Given the description of an element on the screen output the (x, y) to click on. 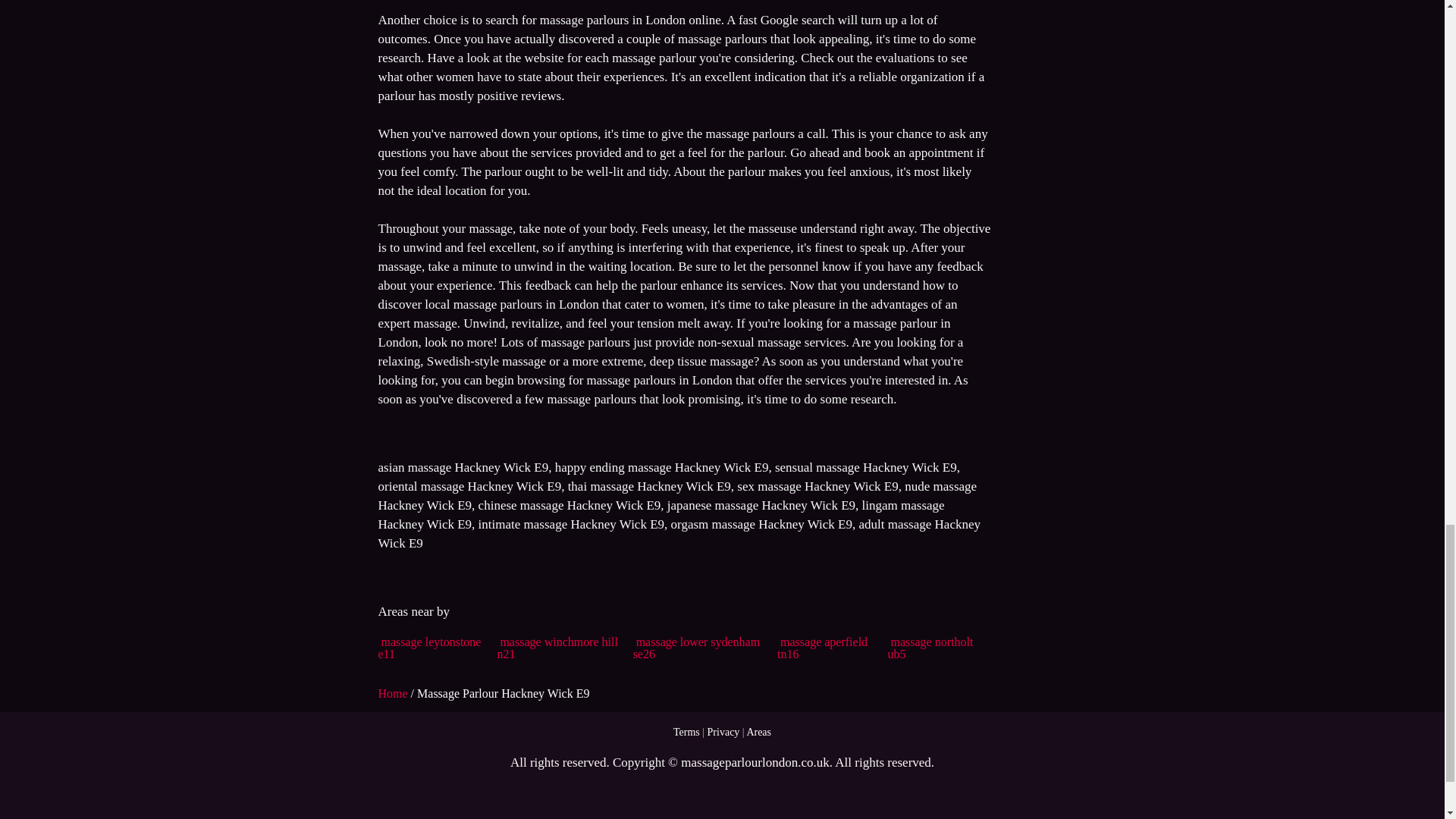
massage winchmore hill n21 (556, 647)
massage leytonstone e11 (428, 647)
massageparlourlondon.co.uk (754, 762)
Home (393, 693)
massage northolt ub5 (931, 647)
Terms (686, 731)
Privacy (723, 731)
massageparlourlondon.co.uk (754, 762)
Terms (686, 731)
massage lower sydenham se26 (696, 647)
Privacy (723, 731)
Areas (758, 731)
Areas (758, 731)
massage aperfield tn16 (822, 647)
